Given the description of an element on the screen output the (x, y) to click on. 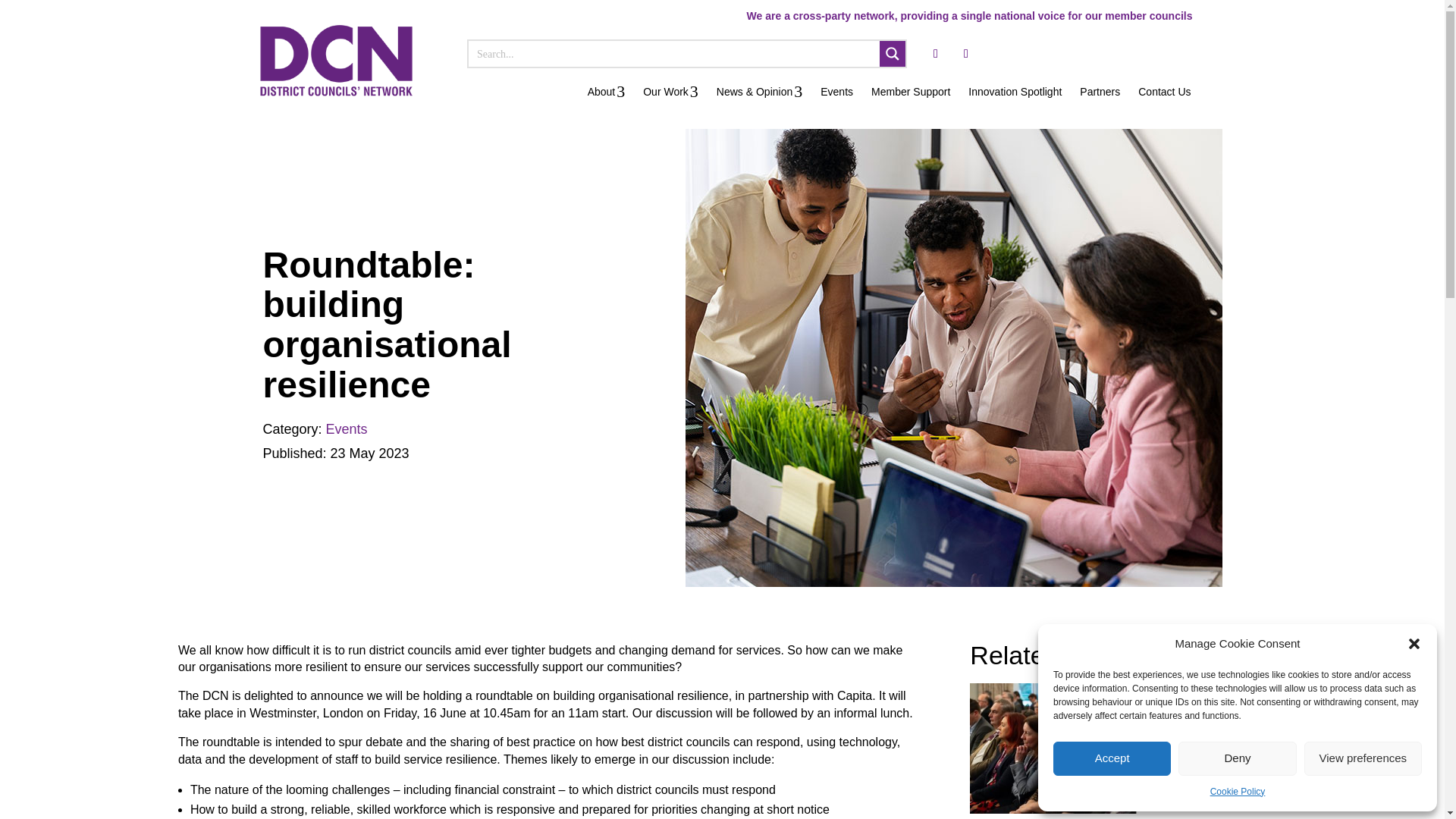
DCN-Logo-web (335, 61)
Our Work (670, 90)
Events (835, 91)
Deny (1236, 758)
Follow on LinkedIn (965, 53)
Follow on X (935, 53)
About (606, 90)
View preferences (1363, 758)
Cookie Policy (1237, 791)
Accept (1111, 758)
